Given the description of an element on the screen output the (x, y) to click on. 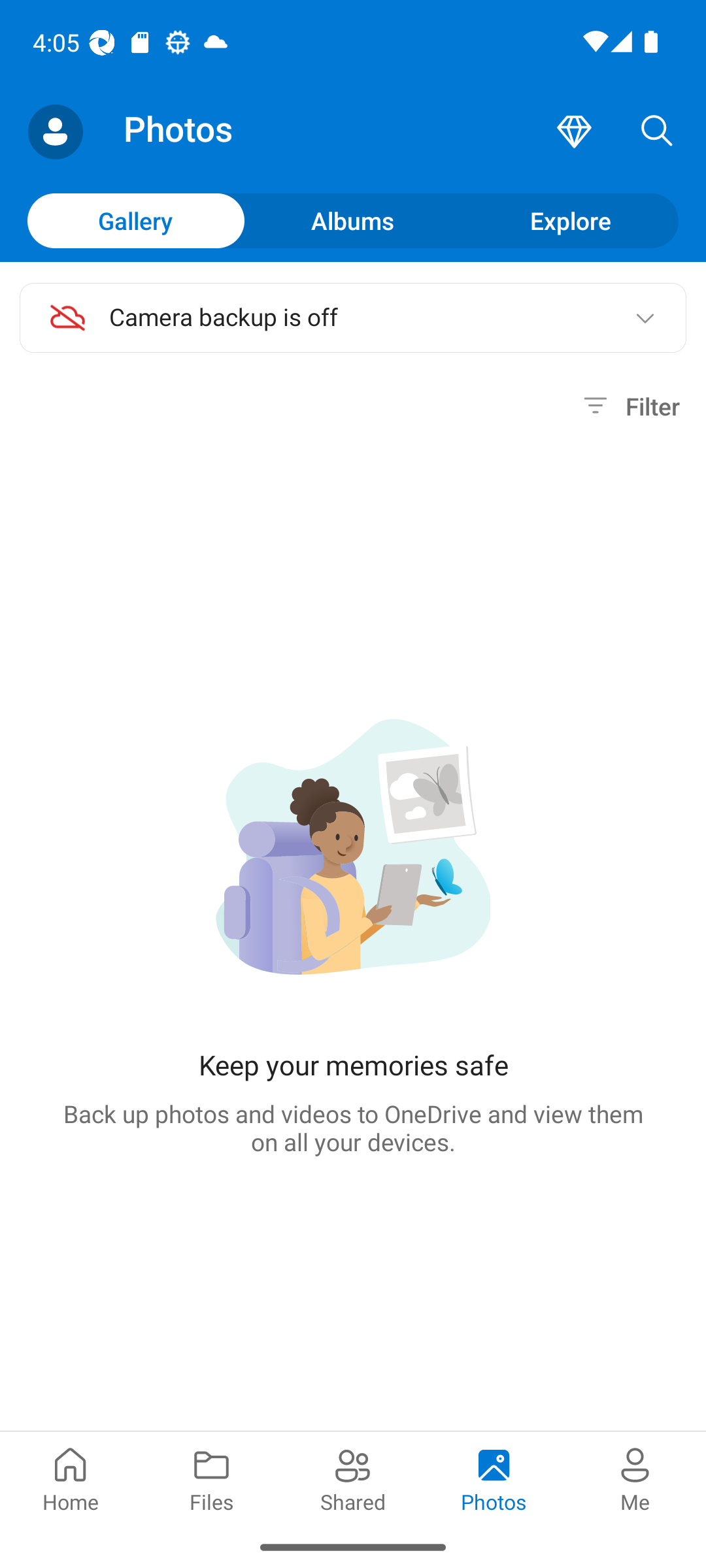
Account switcher (55, 131)
Premium button (574, 131)
Search button (656, 131)
Albums (352, 219)
Explore (569, 219)
Expand camera status banner (645, 318)
Filter (628, 405)
Home pivot Home (70, 1478)
Files pivot Files (211, 1478)
Shared pivot Shared (352, 1478)
Me pivot Me (635, 1478)
